Given the description of an element on the screen output the (x, y) to click on. 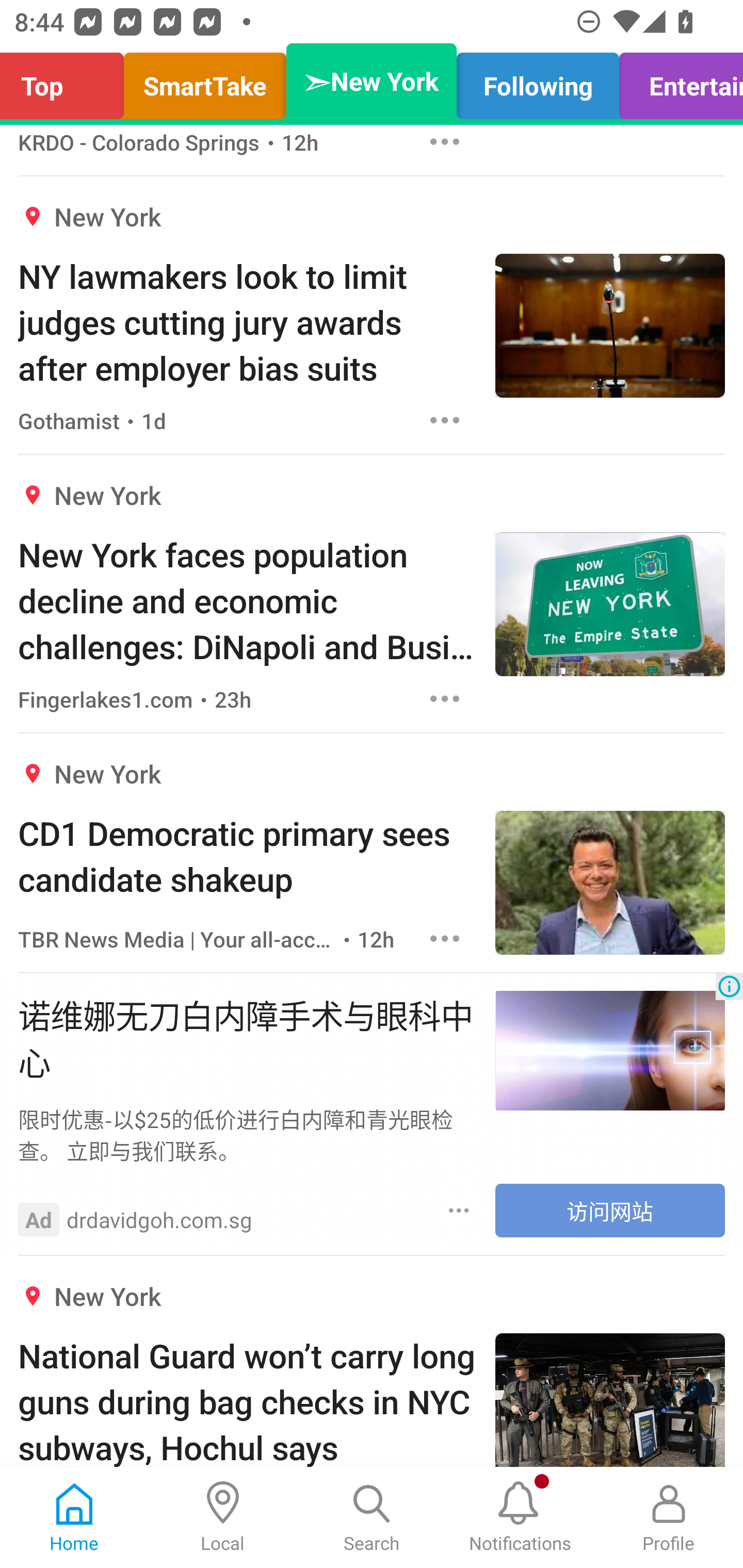
Top (67, 81)
SmartTake (204, 81)
➣New York (371, 81)
Following (537, 81)
Options (444, 144)
Options (444, 420)
Options (444, 699)
Options (444, 938)
Ad Choices Icon (729, 986)
诺维娜无刀白内障手术与眼科中心 (247, 1037)
限时优惠-以$25的低价进行白内障和青光眼检查。 立即与我们联系。 (247, 1133)
访问网站 (610, 1210)
Options (459, 1211)
drdavidgoh.com.sg (159, 1219)
Local (222, 1517)
Search (371, 1517)
Notifications, New notification Notifications (519, 1517)
Profile (668, 1517)
